Given the description of an element on the screen output the (x, y) to click on. 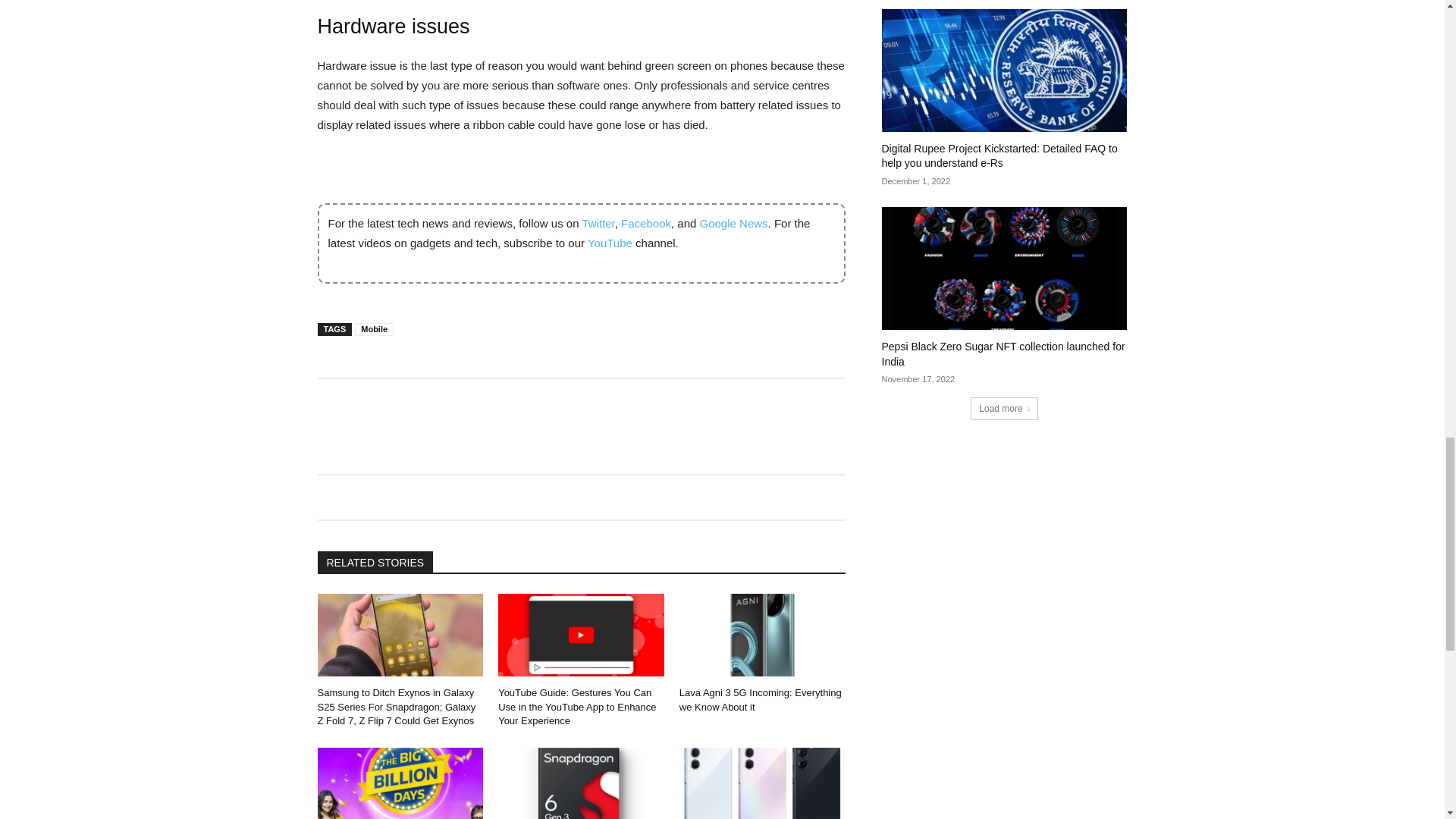
Google News (734, 223)
Mobile (374, 328)
Facebook (646, 223)
YouTube (609, 242)
Twitter (597, 223)
